Given the description of an element on the screen output the (x, y) to click on. 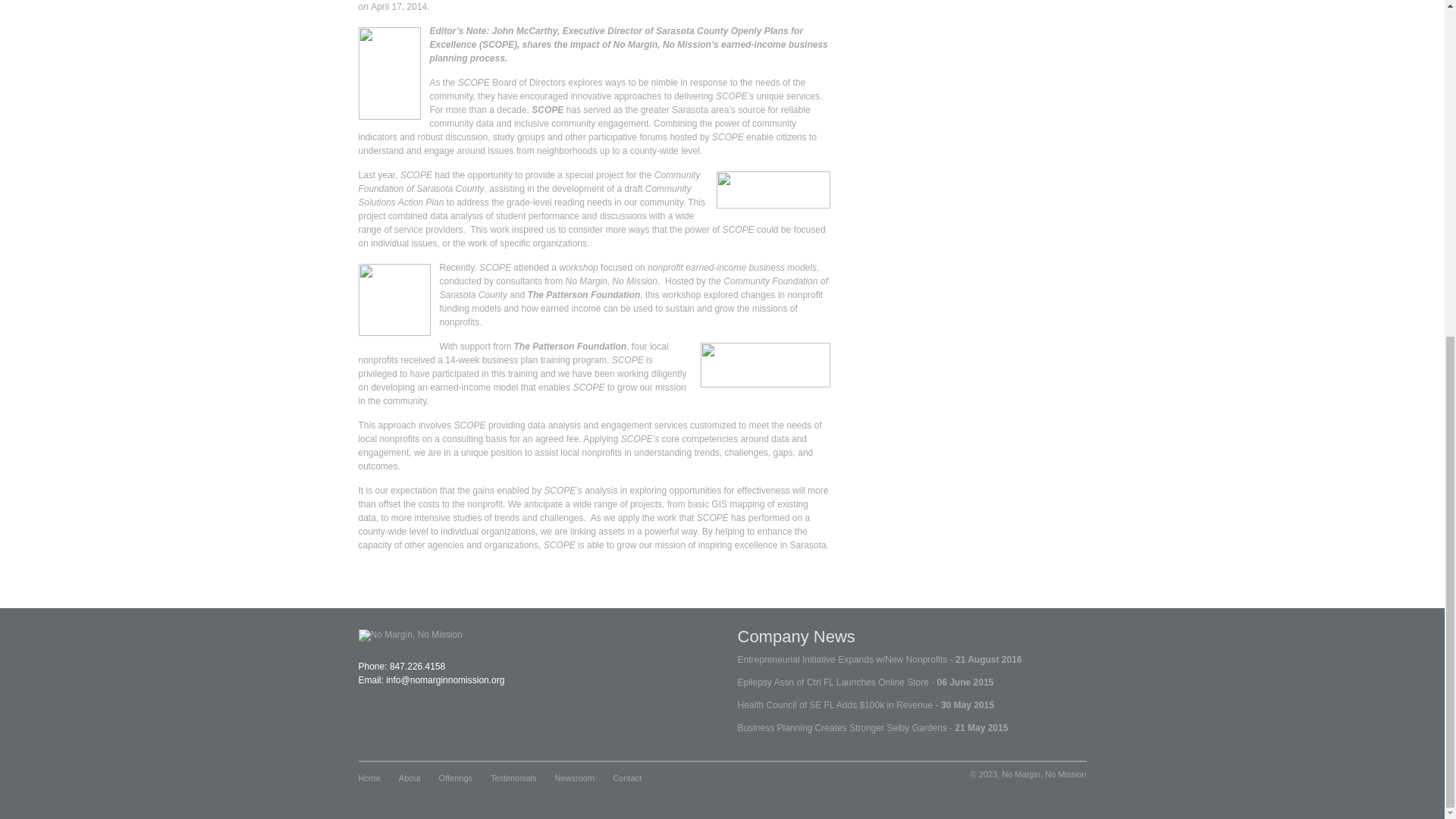
SCOPE Logo (772, 189)
Community Foundation of Sarasota County (529, 181)
No Margin, No Mission (612, 281)
workshop (577, 267)
John McCarthy (524, 30)
The Patterson Foundation (764, 365)
grade-level reading needs (558, 202)
SCOPE (547, 109)
No Margin, No Mission (393, 299)
